Given the description of an element on the screen output the (x, y) to click on. 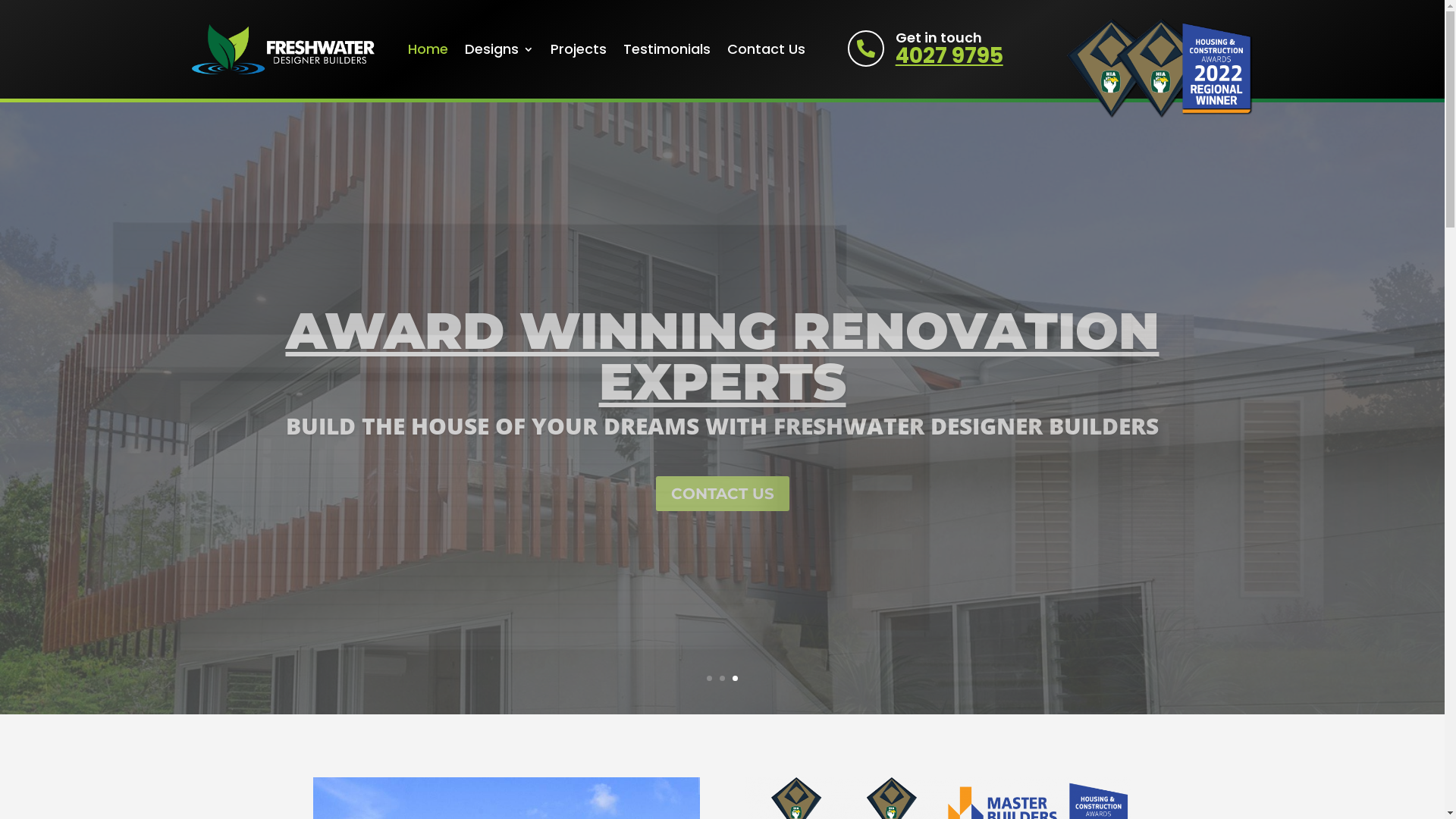
1 Element type: text (709, 677)
CONTACT US Element type: text (721, 493)
Contact Us Element type: text (766, 49)
3 Element type: text (734, 677)
Home Element type: text (427, 49)
2 Element type: text (721, 677)
4027 9795 Element type: text (949, 55)
AWARD WINNING RENOVATION EXPERTS Element type: text (721, 355)
Designs Element type: text (498, 49)
Testimonials Element type: text (666, 49)
Award-logos-2023 Element type: hover (1159, 68)
Projects Element type: text (578, 49)
